Given the description of an element on the screen output the (x, y) to click on. 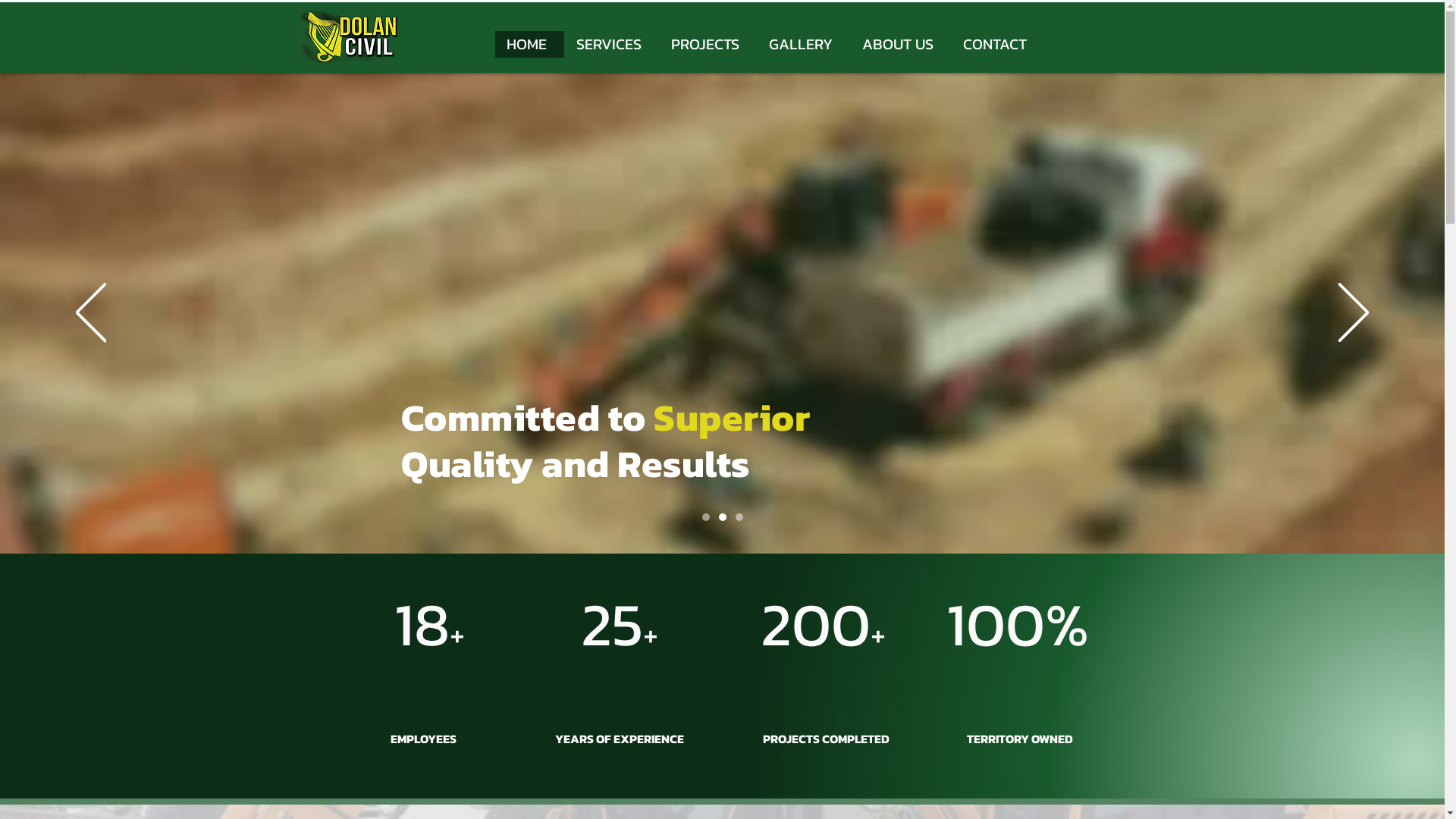
HOME Element type: text (528, 44)
GALLERY Element type: text (803, 44)
SERVICES Element type: text (611, 44)
ABOUT US Element type: text (899, 44)
CONTACT Element type: text (996, 44)
PROJECTS Element type: text (707, 44)
dolancivil.png Element type: hover (349, 36)
